Given the description of an element on the screen output the (x, y) to click on. 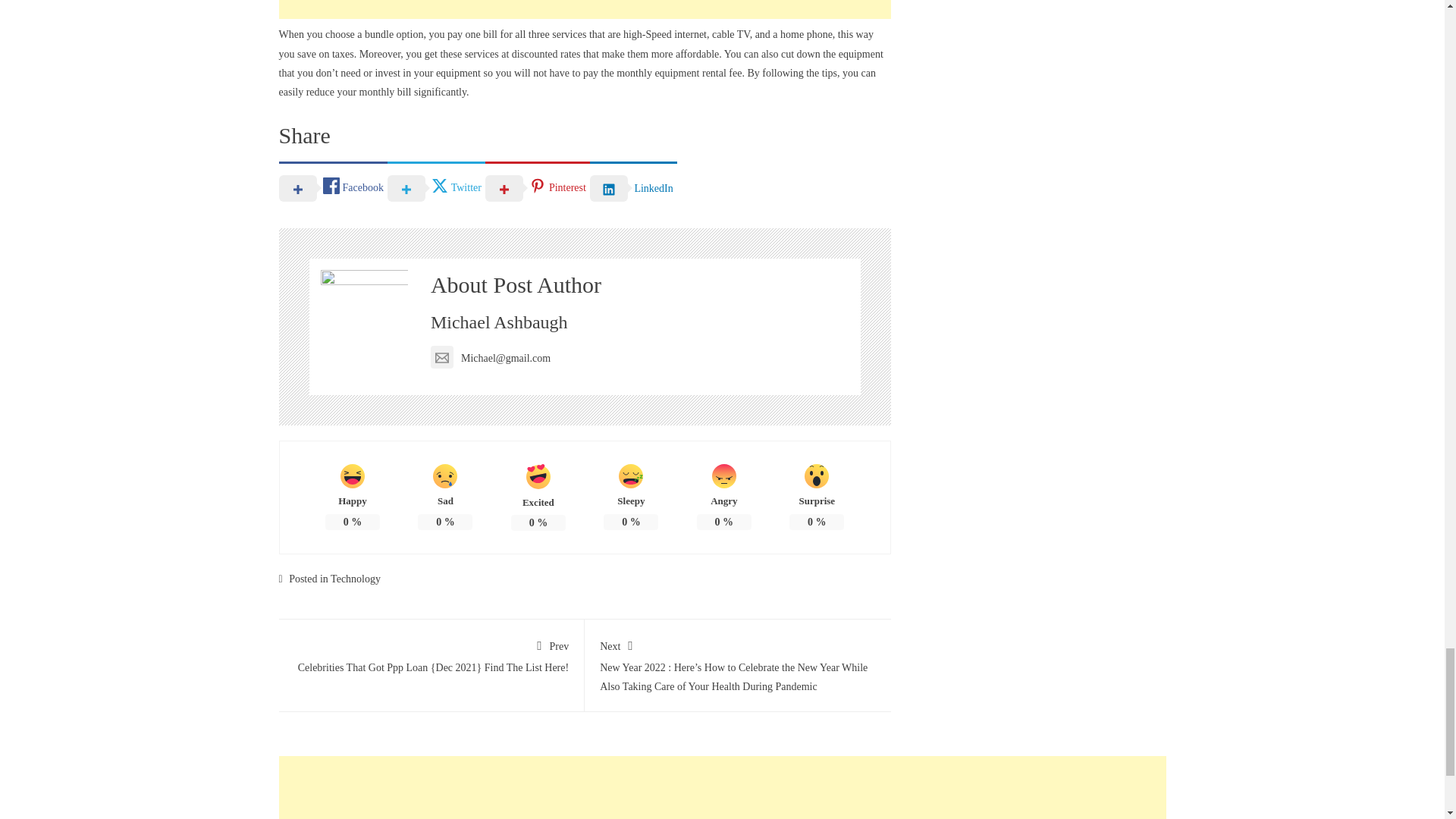
Michael Ashbaugh (498, 322)
Twitter (435, 186)
Pinterest (536, 186)
Facebook (333, 186)
LinkedIn (633, 186)
